Given the description of an element on the screen output the (x, y) to click on. 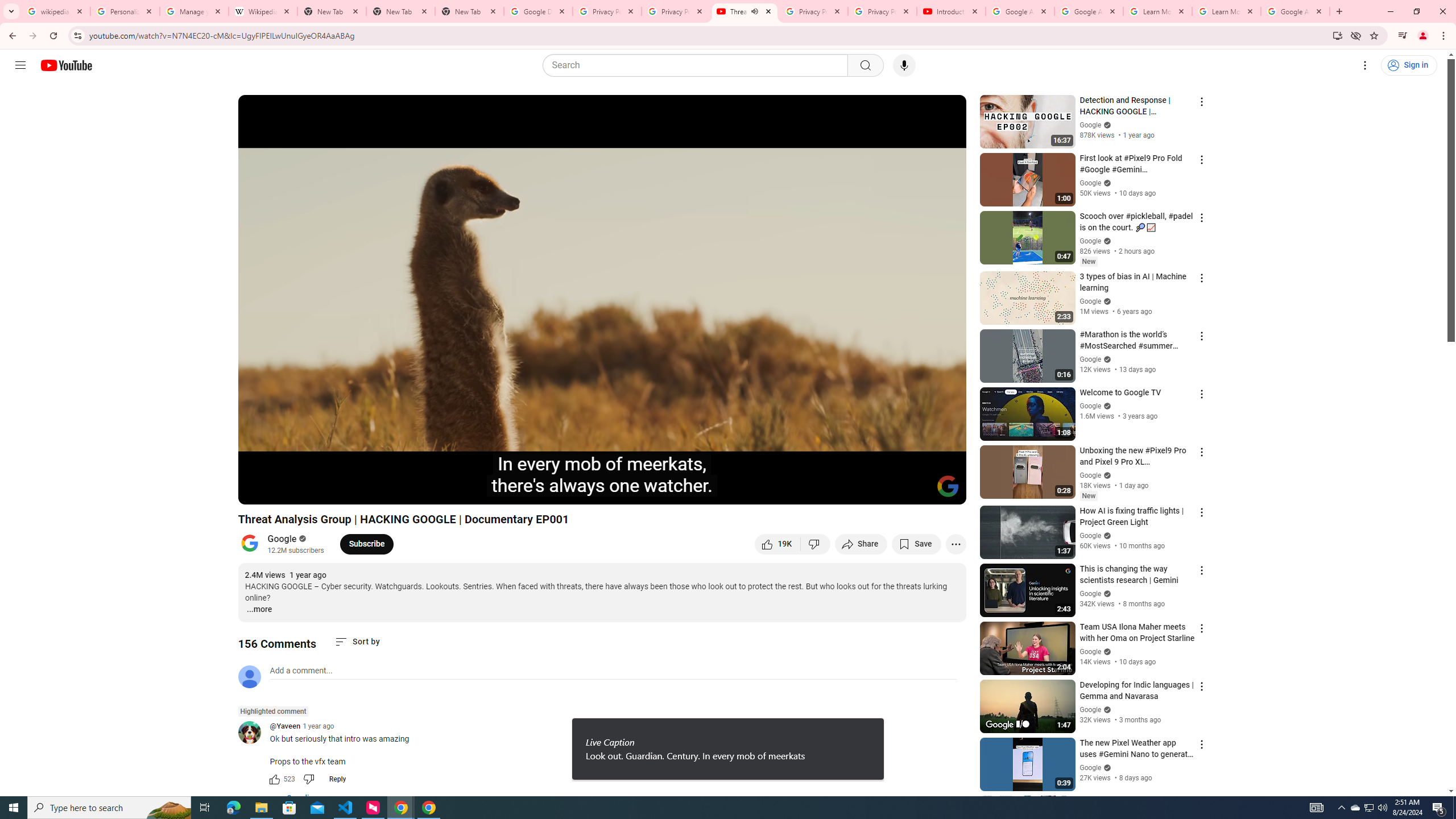
Wikipedia:Edit requests - Wikipedia (263, 11)
@Yaveen (253, 733)
Miniplayer (i) (890, 490)
Save to playlist (915, 543)
Channel watermark (947, 486)
Pause (k) (257, 490)
Mute (m) (312, 490)
